Given the description of an element on the screen output the (x, y) to click on. 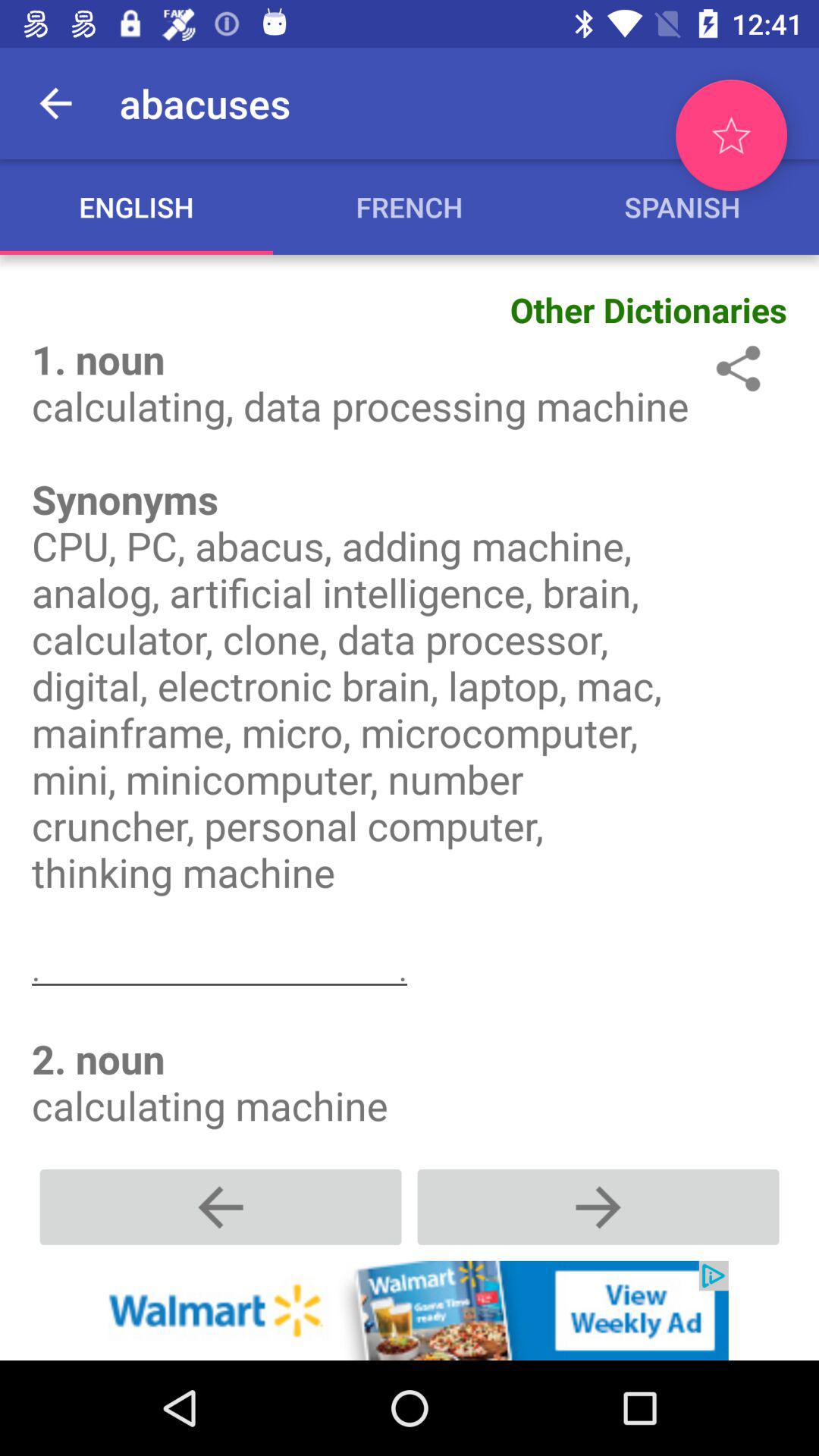
more about add (409, 1310)
